Given the description of an element on the screen output the (x, y) to click on. 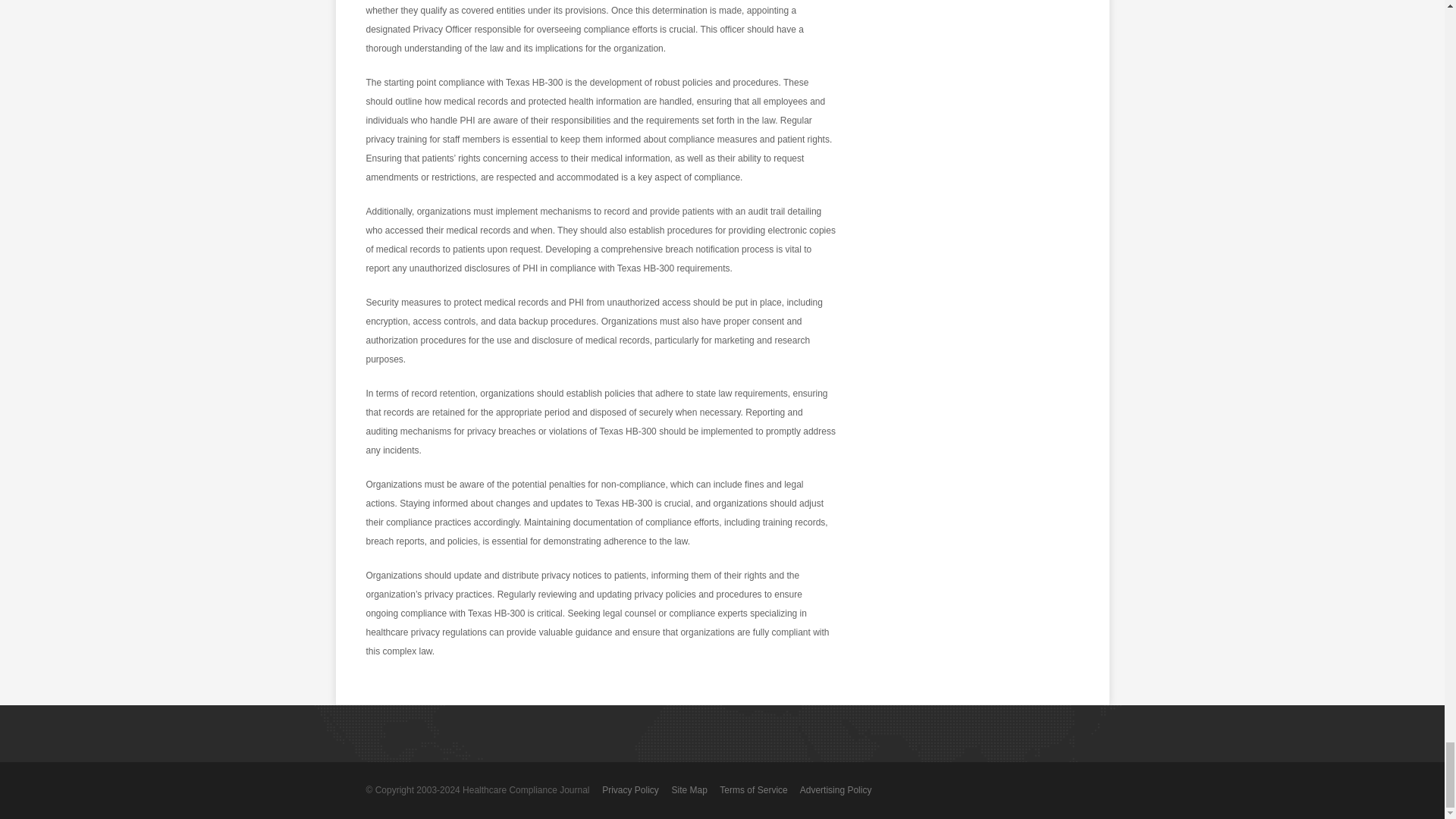
Terms of Service (753, 789)
Privacy Policy (630, 789)
Advertising Policy (835, 789)
Site Map (689, 789)
